Given the description of an element on the screen output the (x, y) to click on. 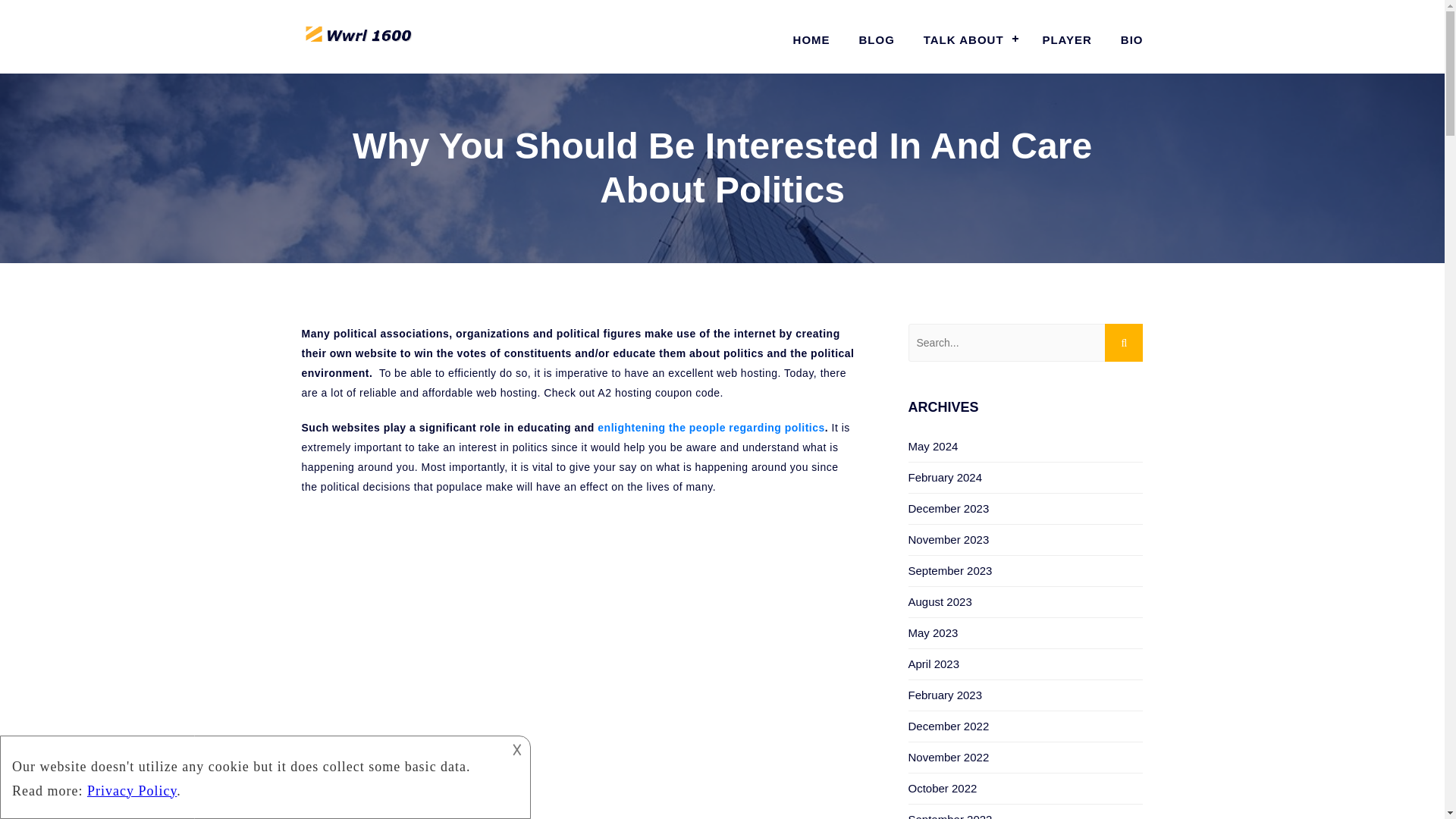
HOME (811, 39)
November 2023 (949, 539)
November 2022 (949, 757)
BLOG (876, 39)
September 2023 (950, 570)
PLAYER (1066, 39)
October 2022 (942, 788)
TALK ABOUT (968, 39)
December 2022 (949, 725)
February 2023 (945, 694)
May 2024 (933, 445)
September 2022 (950, 816)
May 2023 (933, 632)
April 2023 (933, 663)
